Given the description of an element on the screen output the (x, y) to click on. 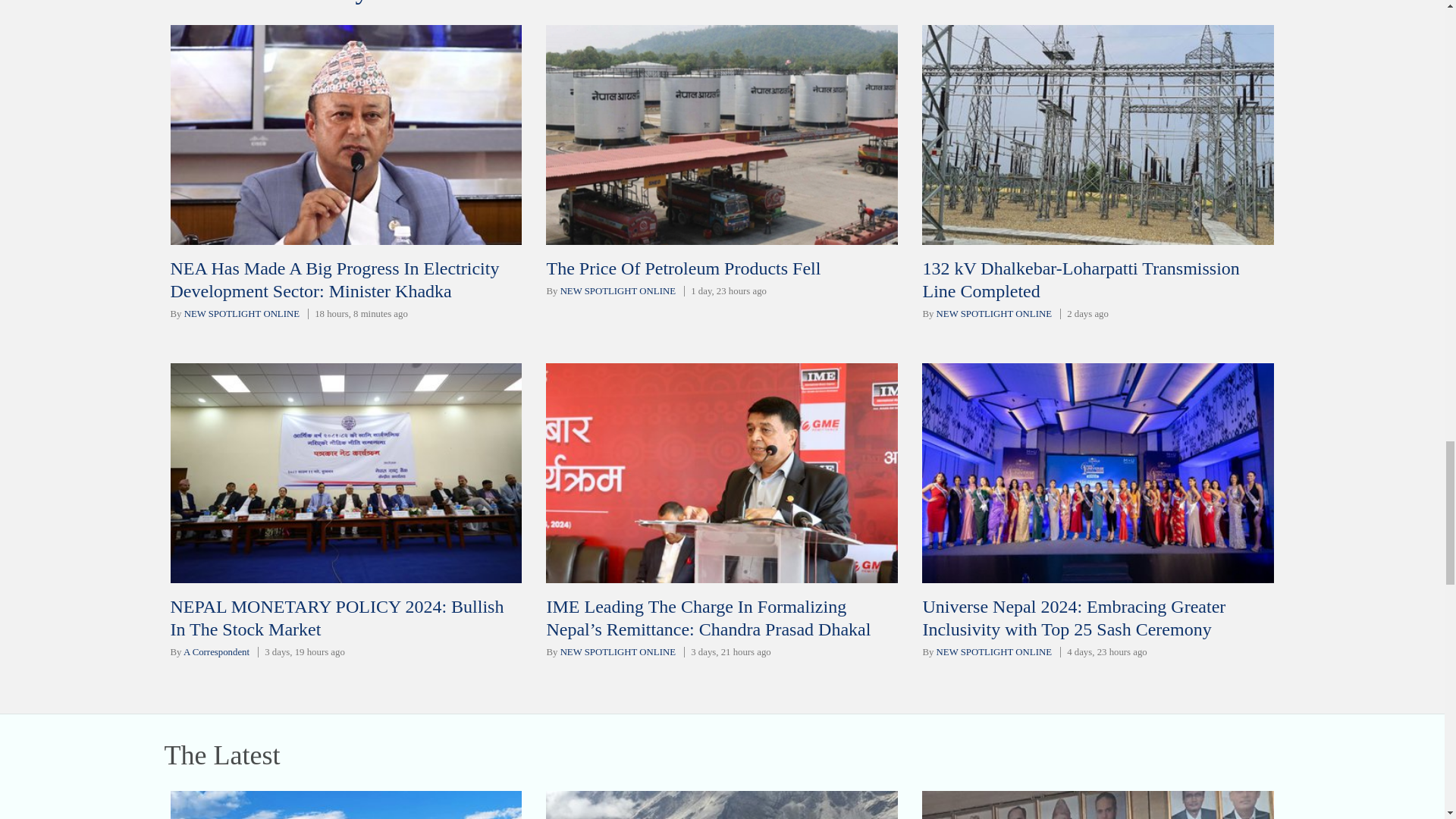
NEW SPOTLIGHT ONLINE (993, 652)
132 kV Dhalkebar-Loharpatti Transmission Line Completed (1080, 279)
The Price Of Petroleum Products Fell (683, 268)
Economy (315, 2)
NEW SPOTLIGHT ONLINE (617, 290)
A Correspondent (215, 652)
NEW SPOTLIGHT ONLINE (993, 313)
NEW SPOTLIGHT ONLINE (241, 313)
NEPAL MONETARY POLICY 2024: Bullish In The Stock Market (336, 618)
